Given the description of an element on the screen output the (x, y) to click on. 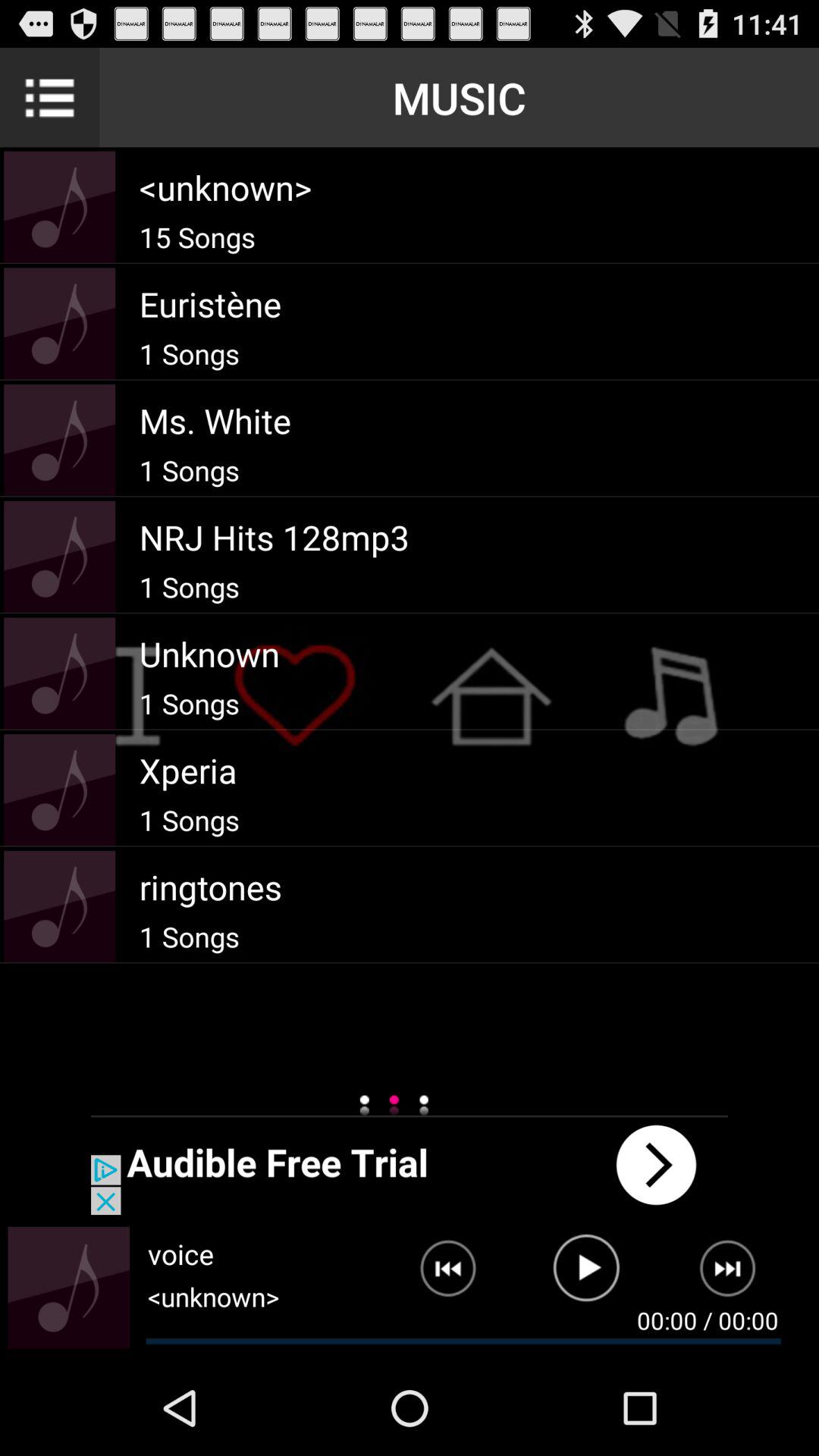
go to next (737, 1274)
